Given the description of an element on the screen output the (x, y) to click on. 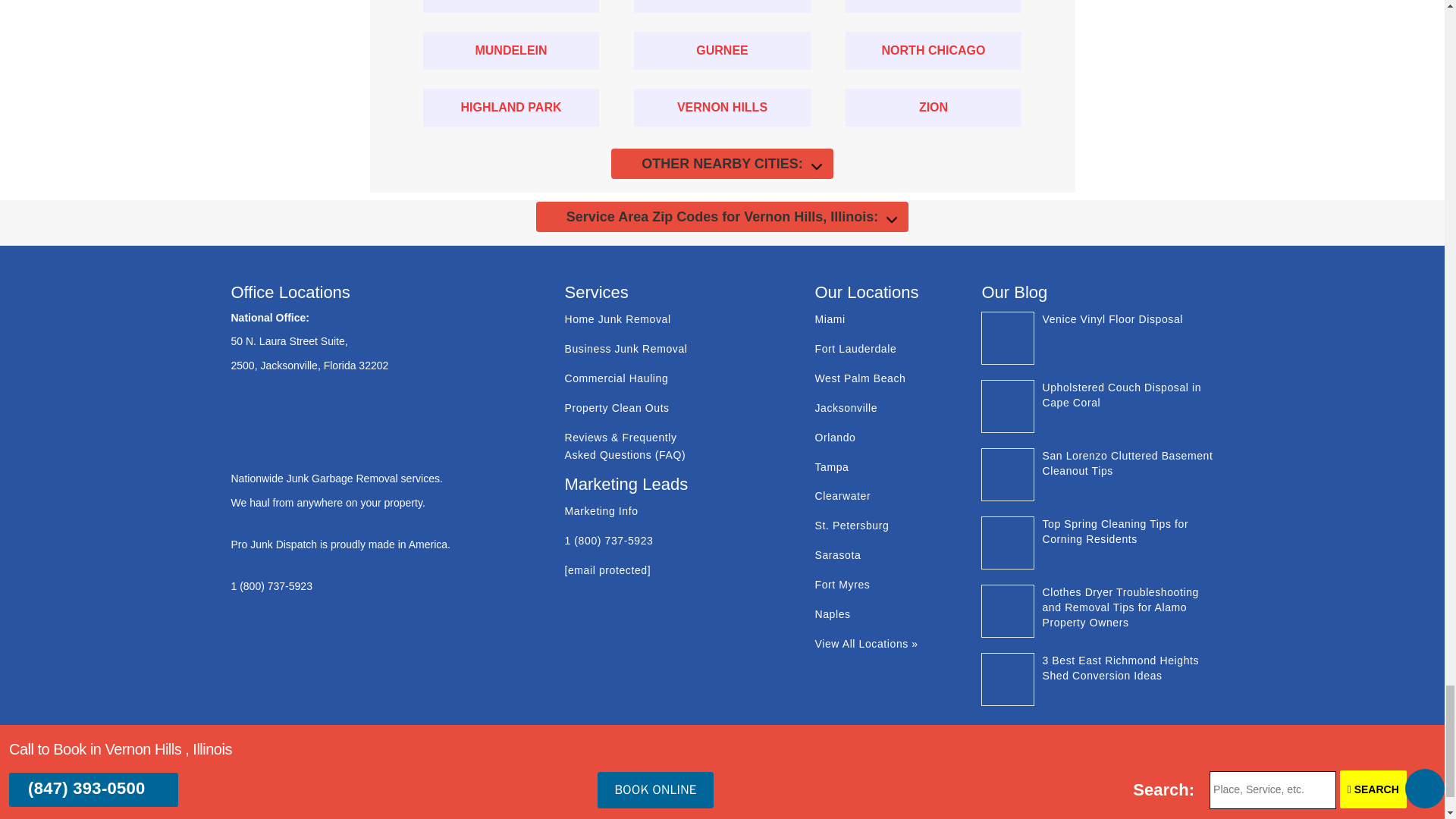
Lake County IL Lake County - IL - T80 City of Highland Park (511, 107)
Lake County IL Lake County - IL - T80 City of Waukegan (721, 6)
Lake County IL Lake - IL - T80 City of North Chicago (933, 50)
Lake County IL Lake County - IL - T80 City of Gurnee (721, 50)
Lake County IL Lake County - IL - T80 City of Buffalo Grove (933, 6)
Lake County IL Lake County - IL - T80 City of Mundelein (511, 50)
Lake County IL Lake - IL - T80 City of Round Lake Beach (511, 6)
